Given the description of an element on the screen output the (x, y) to click on. 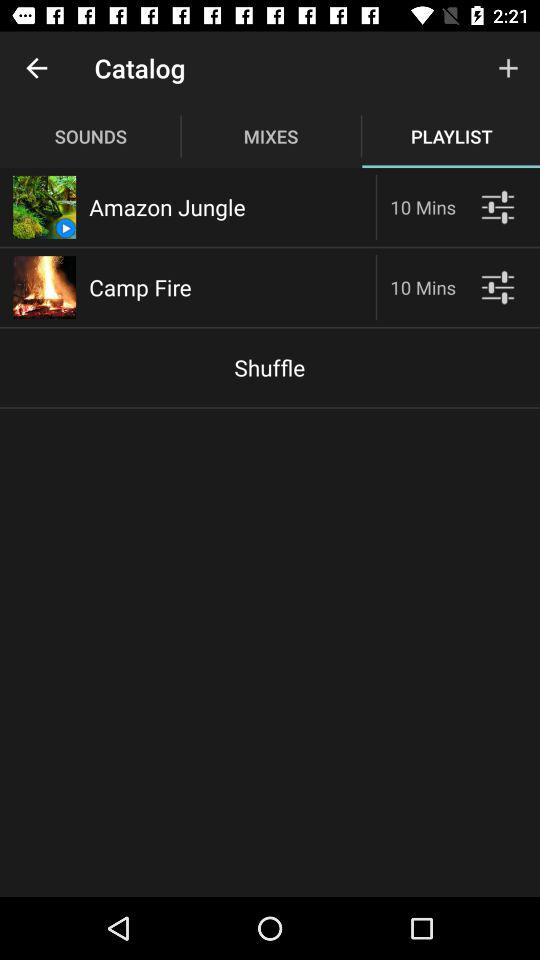
modify settings (498, 287)
